Given the description of an element on the screen output the (x, y) to click on. 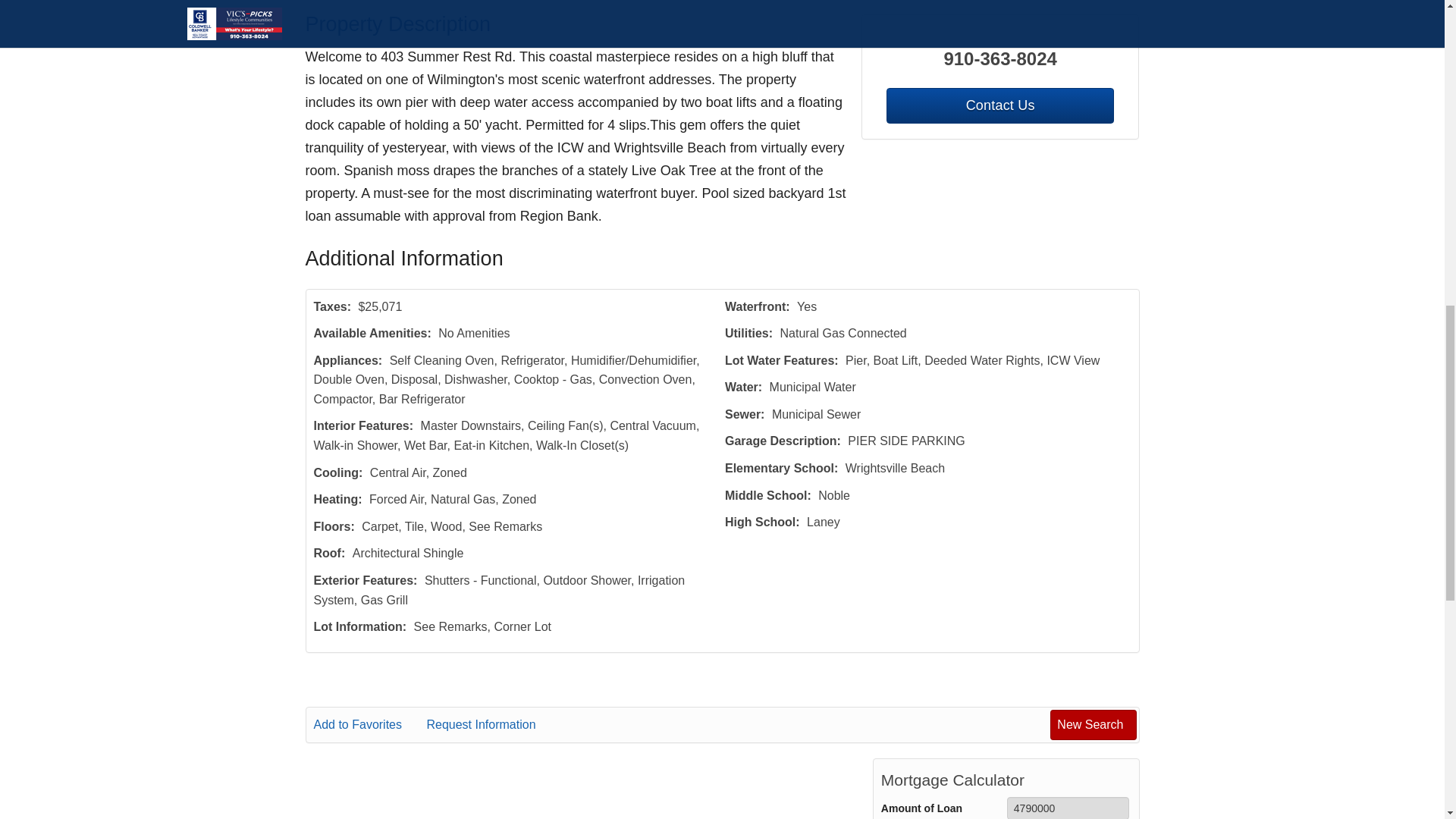
910-363-8024 (1000, 58)
4790000 (1068, 807)
Contact Us (999, 105)
